Given the description of an element on the screen output the (x, y) to click on. 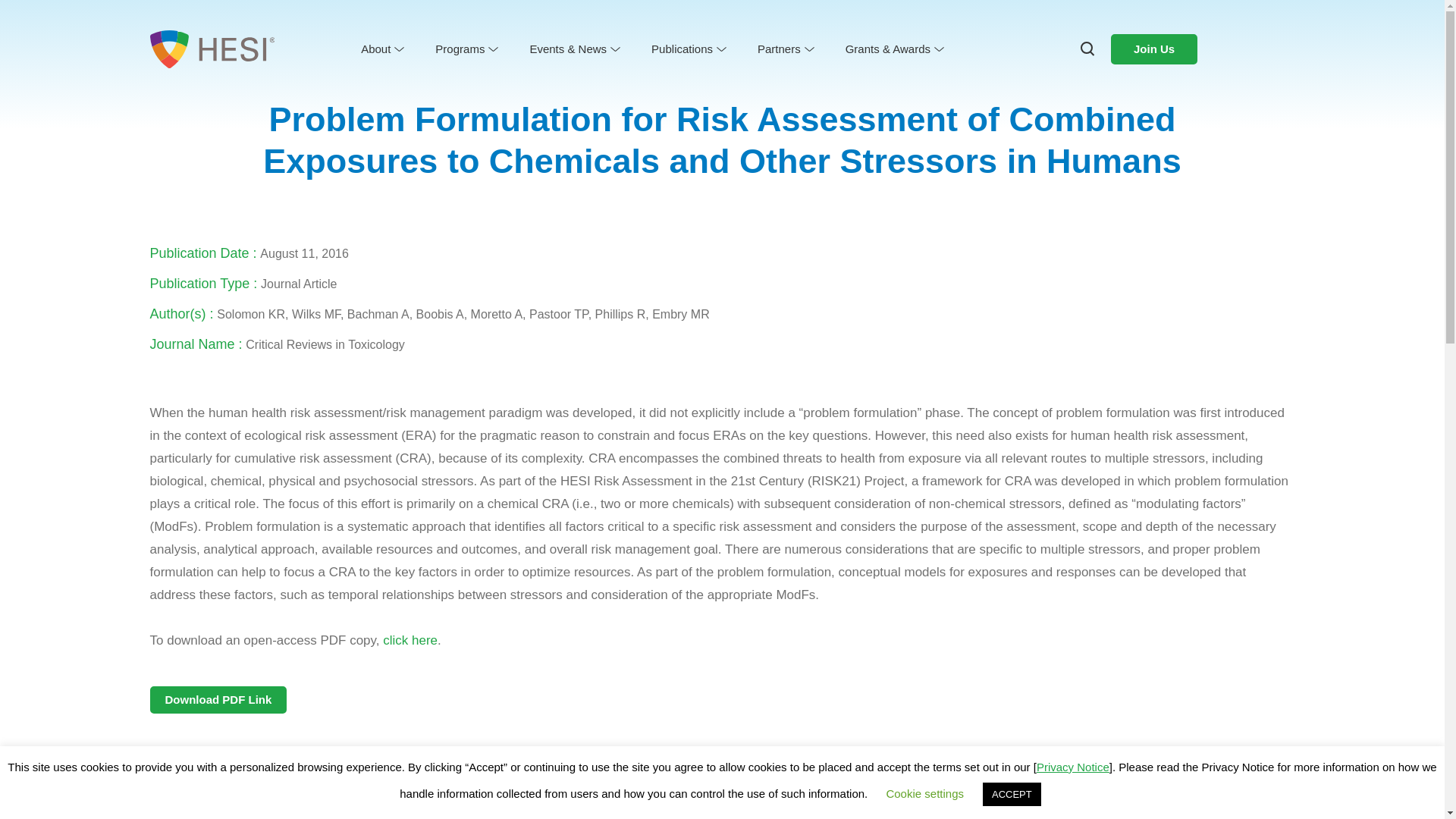
Join Us (1153, 49)
Partners (784, 48)
Publications (686, 48)
HESI Conference Series (595, 73)
Download PDF Link (217, 699)
Programs (465, 48)
click here (410, 640)
THRIVE (891, 73)
About HESI (409, 73)
About (381, 48)
Search (47, 22)
Peer-Reviewed Publications (723, 73)
Current Partners (809, 73)
